Given the description of an element on the screen output the (x, y) to click on. 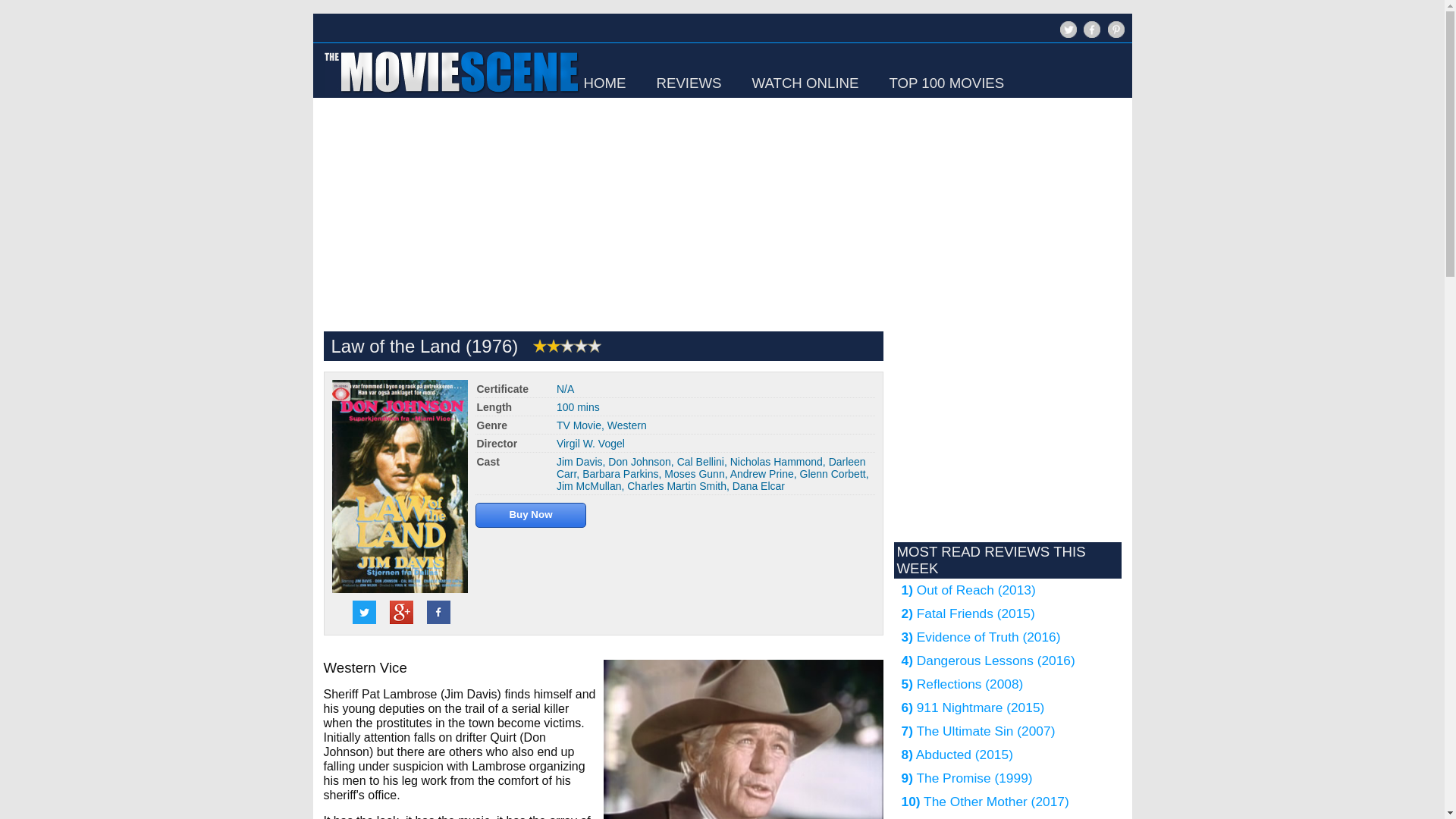
Andrew Prine (761, 473)
Follow The Movie Scene on Twitter (1068, 29)
Virgil W. Vogel (590, 443)
REVIEWS (688, 83)
Don Johnson (639, 461)
TOP 100 MOVIES (946, 83)
Follow The Movie Scene on Twitter (1067, 37)
Follow The Movie Scene on Pinterest (1115, 29)
Moses Gunn (693, 473)
Western (626, 425)
WATCH ONLINE (805, 83)
Barbara Parkins (620, 473)
Share on Twitter (363, 612)
TV Movie (578, 425)
Jim McMullan (588, 485)
